Given the description of an element on the screen output the (x, y) to click on. 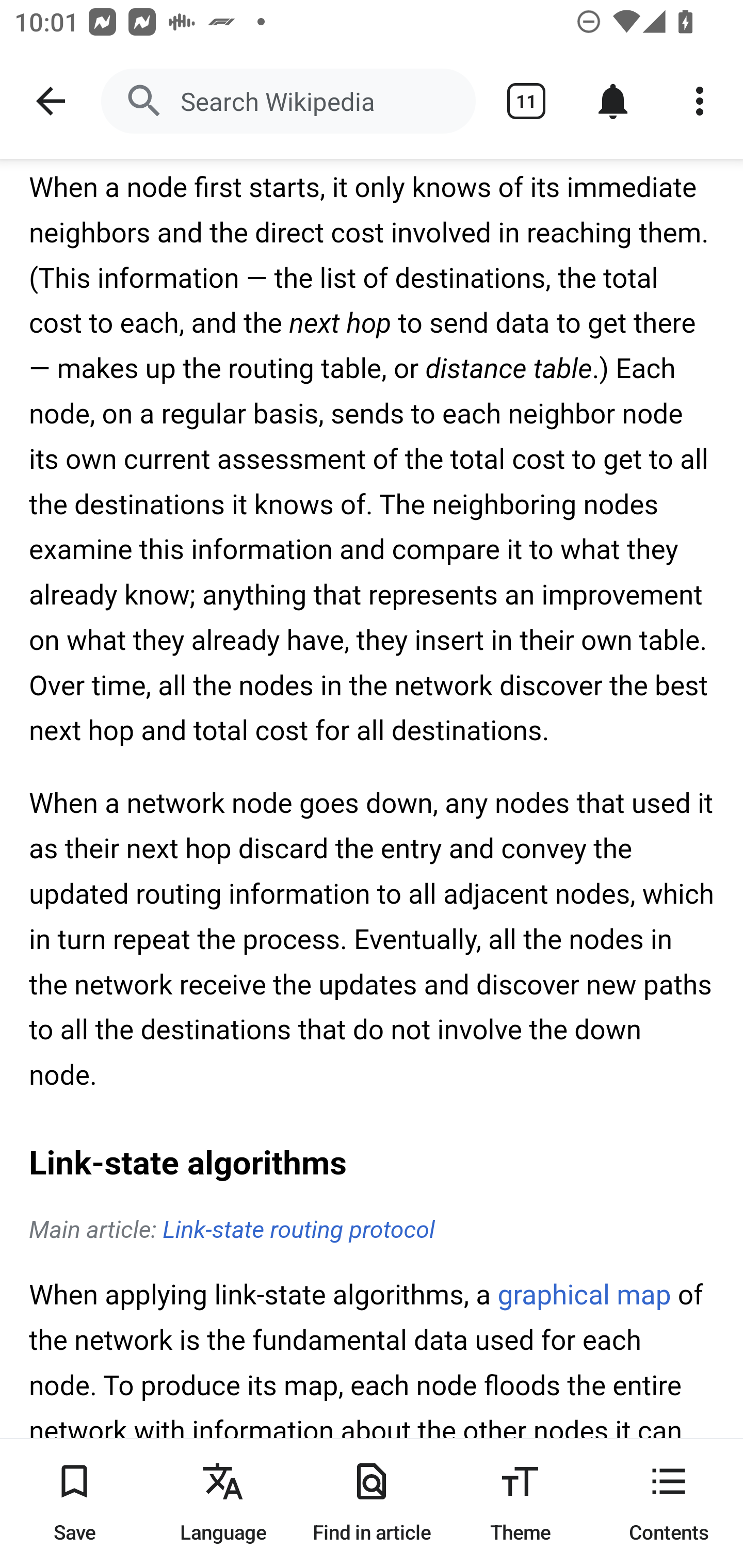
Show tabs 11 (525, 100)
Notifications (612, 100)
Navigate up (50, 101)
More options (699, 101)
Search Wikipedia (288, 100)
Link-state routing protocol (298, 1230)
graphical map (583, 1296)
Save (74, 1502)
Language (222, 1502)
Find in article (371, 1502)
Theme (519, 1502)
Contents (668, 1502)
